Given the description of an element on the screen output the (x, y) to click on. 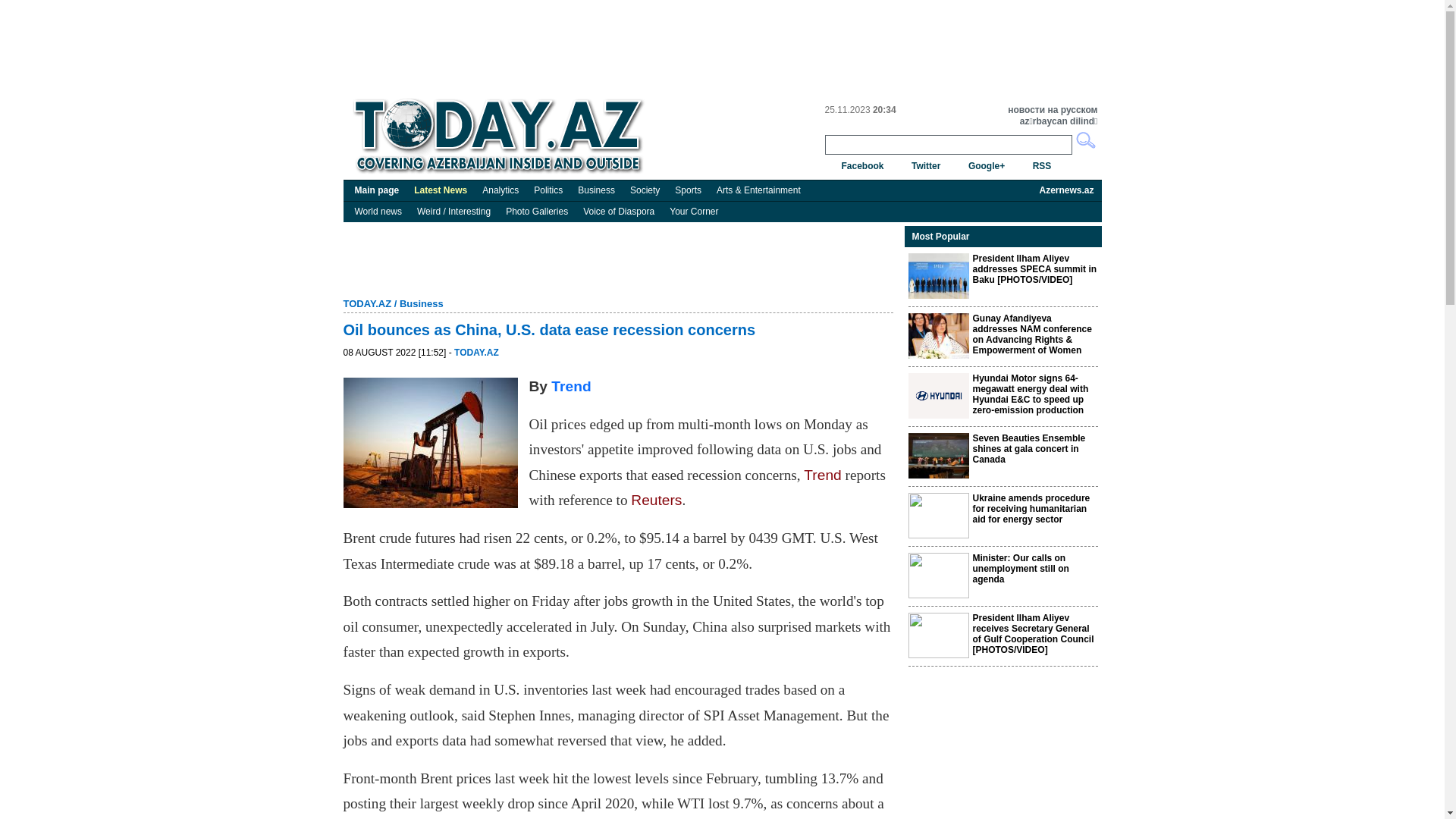
Weird / Interesting Element type: text (453, 211)
Trend Element type: text (821, 475)
Business Element type: text (596, 190)
Analytics Element type: text (500, 190)
Politics Element type: text (548, 190)
Today.az Element type: hover (501, 136)
Photo Galleries Element type: text (536, 211)
TODAY.AZ Element type: text (366, 303)
Business Element type: text (421, 303)
Society Element type: text (644, 190)
Facebook Element type: text (862, 165)
Main page Element type: text (377, 190)
Minister: Our calls on unemployment still on agenda Element type: text (1020, 568)
World news Element type: text (378, 211)
Arts & Entertainment Element type: text (758, 190)
Sports Element type: text (688, 190)
RSS Element type: text (1041, 165)
Google+ Element type: text (986, 165)
Latest News Element type: text (440, 190)
Reuters Element type: text (655, 500)
Your Corner Element type: text (693, 211)
TODAY.AZ Element type: text (476, 352)
Azernews.az Element type: text (1066, 190)
Seven Beauties Ensemble shines at gala concert in Canada Element type: text (1028, 448)
Trend Element type: text (570, 386)
Twitter Element type: text (925, 165)
Voice of Diaspora Element type: text (618, 211)
